Given the description of an element on the screen output the (x, y) to click on. 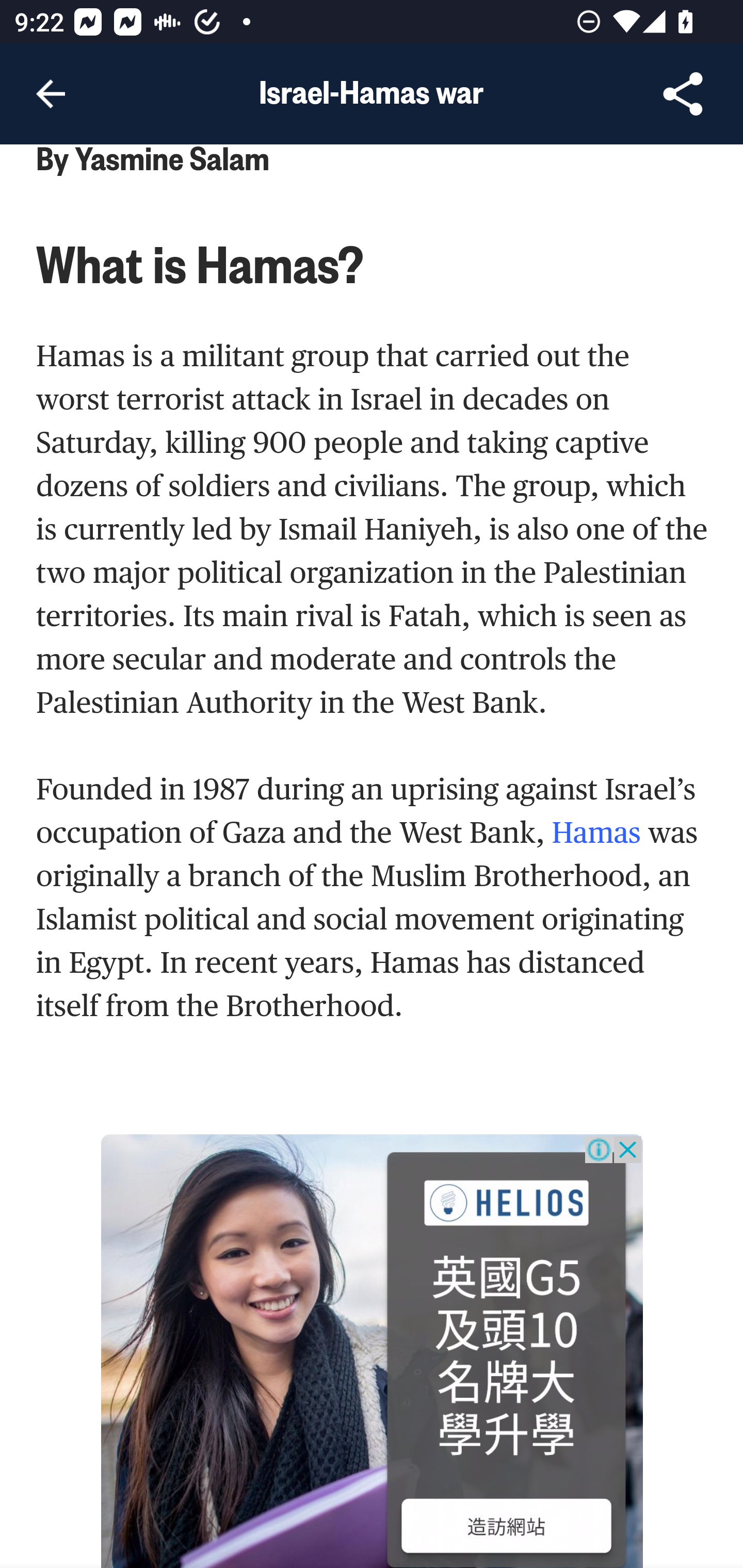
Navigate up (50, 93)
Share Article, button (683, 94)
Hamas  (598, 833)
